Given the description of an element on the screen output the (x, y) to click on. 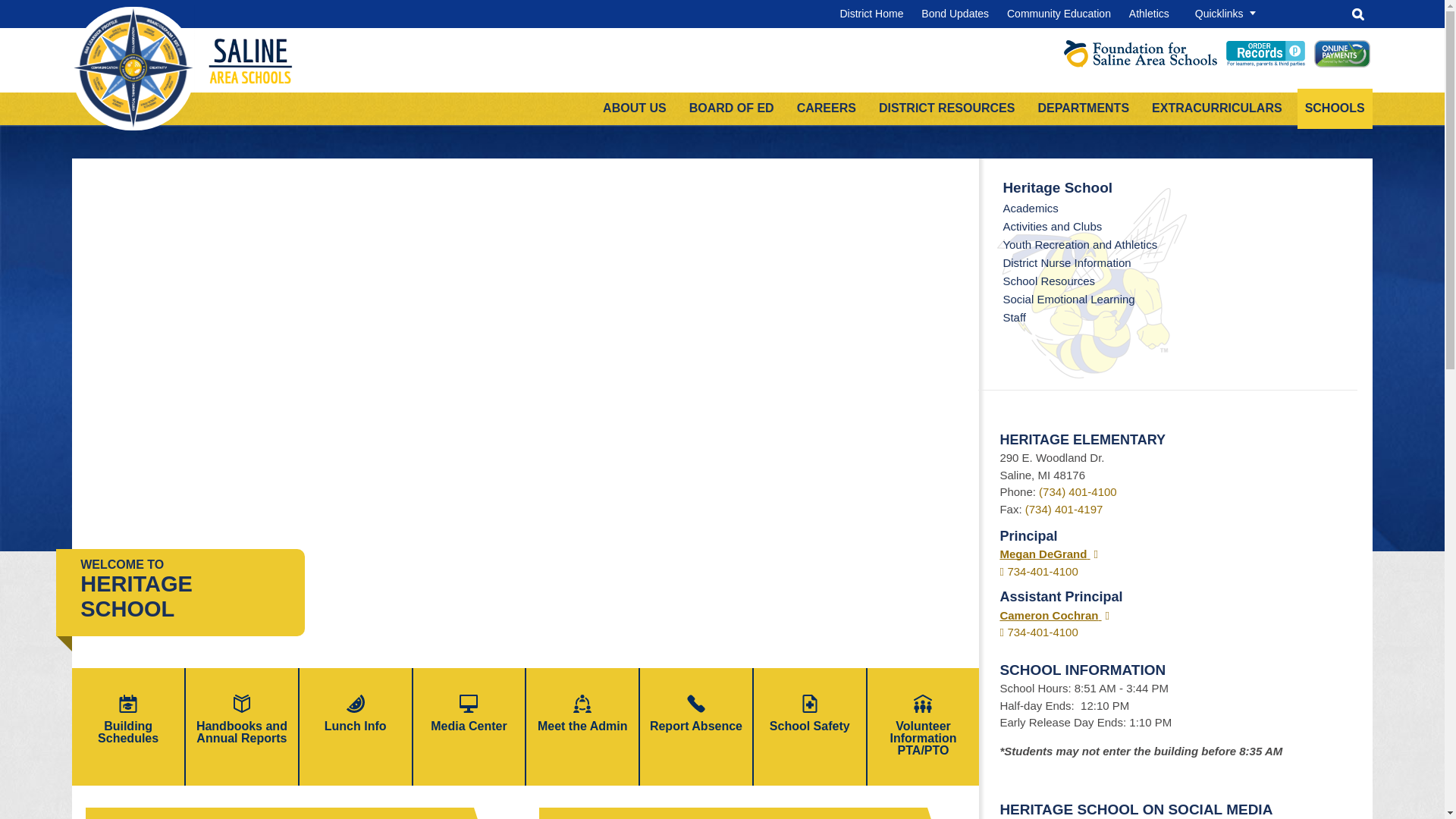
CAREERS (826, 108)
BOARD OF ED (731, 108)
Search (1358, 13)
Online Payments Powered by RevTrak (1342, 62)
ABOUT US (634, 108)
DISTRICT RESOURCES (946, 108)
